Given the description of an element on the screen output the (x, y) to click on. 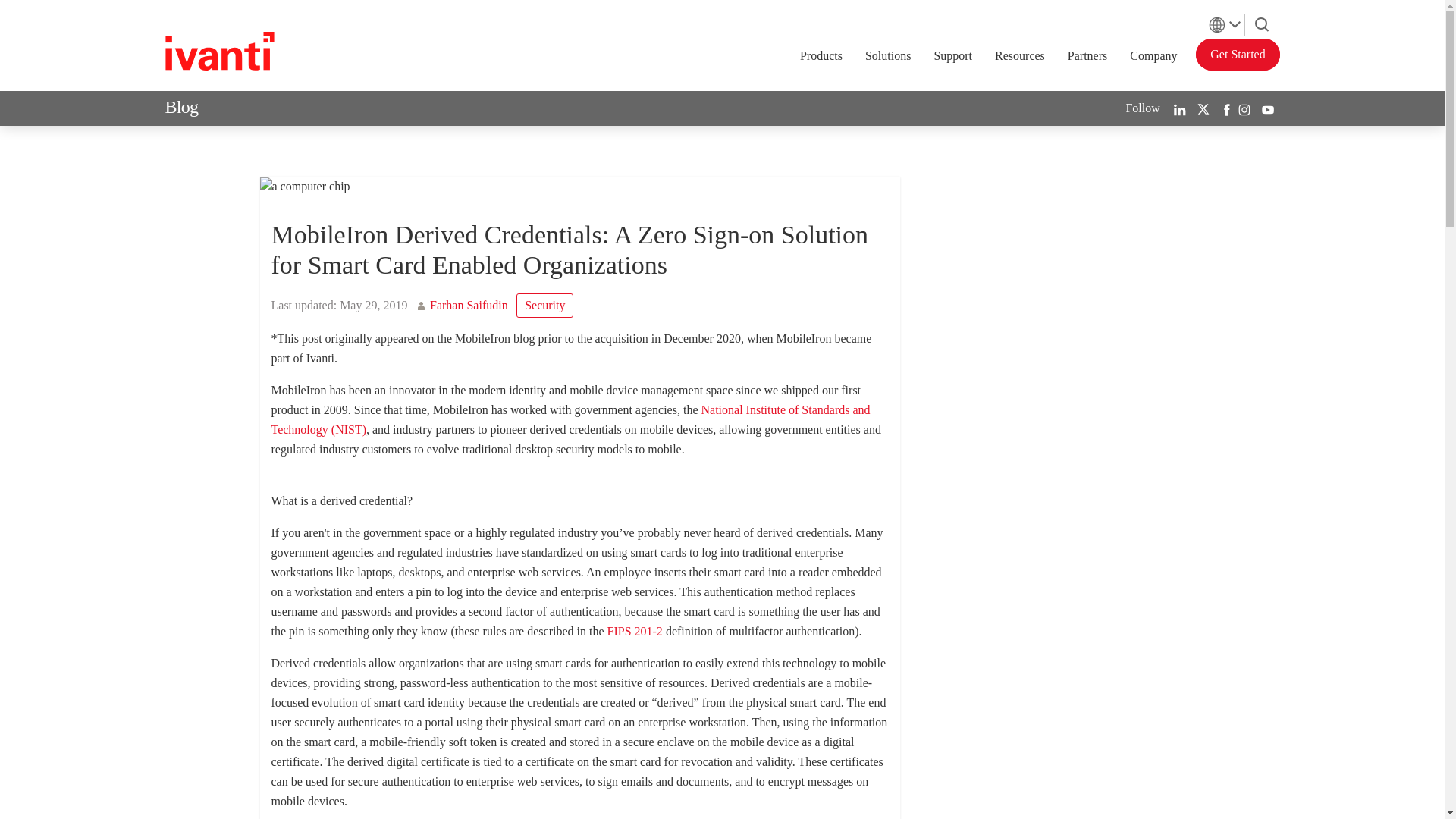
Search (1261, 22)
Search (1262, 24)
